Given the description of an element on the screen output the (x, y) to click on. 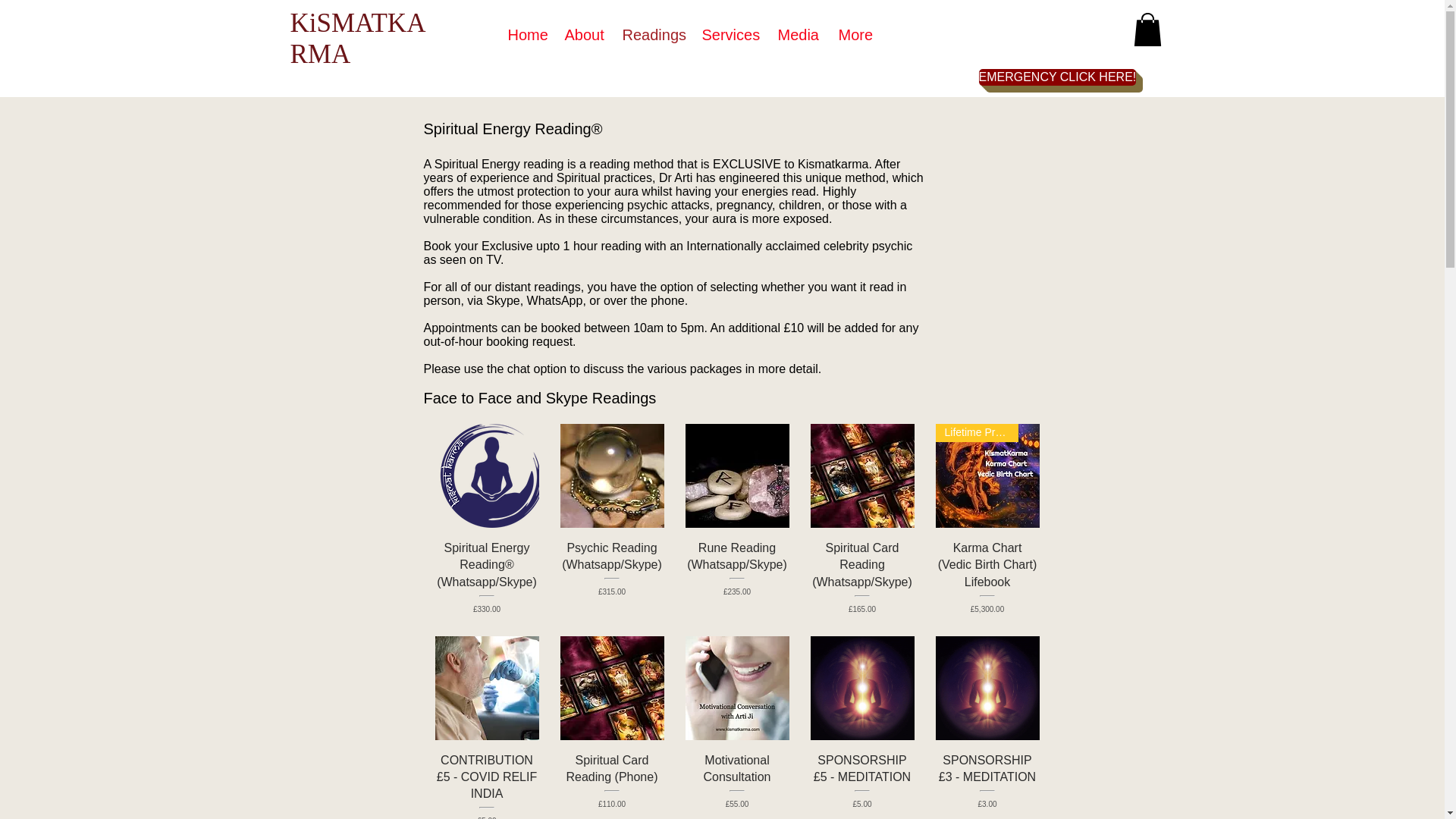
Readings (650, 34)
EMERGENCY CLICK HERE! (1056, 76)
Lifetime Predictions (987, 475)
Home (524, 34)
Media (796, 34)
Services (727, 34)
About (582, 34)
